Given the description of an element on the screen output the (x, y) to click on. 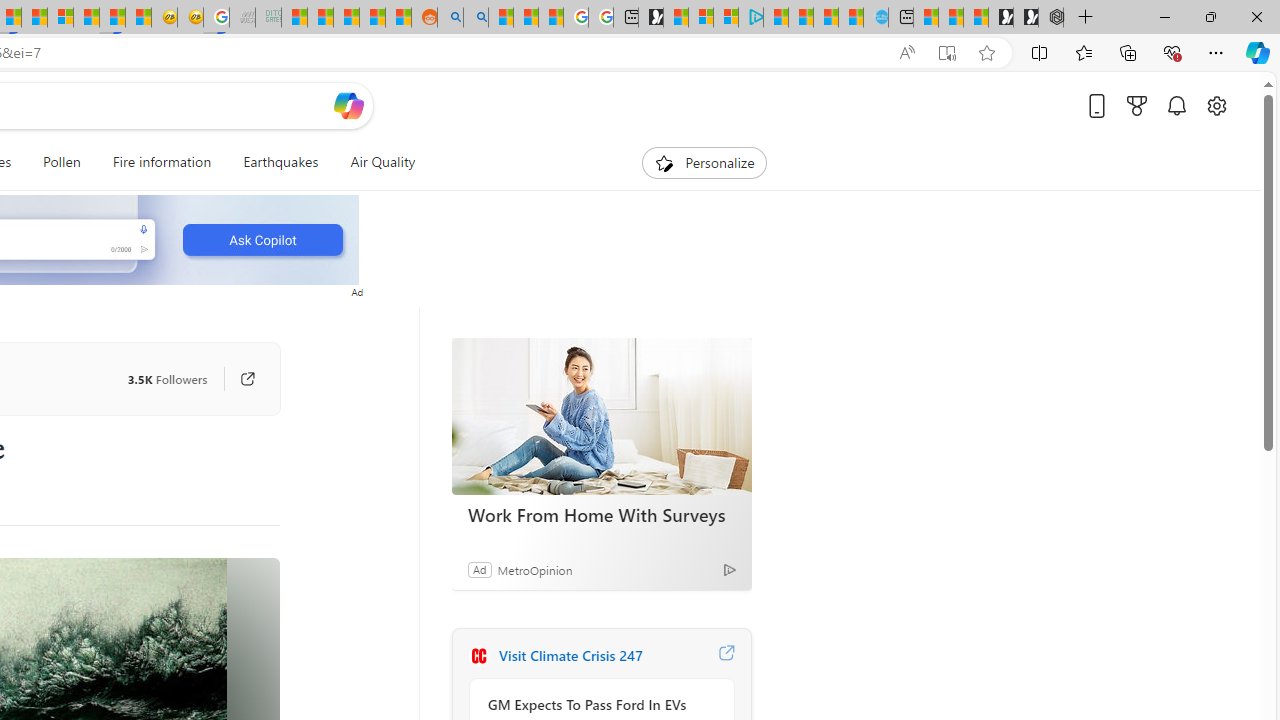
Work From Home With Surveys (601, 416)
Earthquakes (280, 162)
Go to publisher's site (237, 378)
Utah sues federal government - Search (475, 17)
Pollen (61, 162)
